Given the description of an element on the screen output the (x, y) to click on. 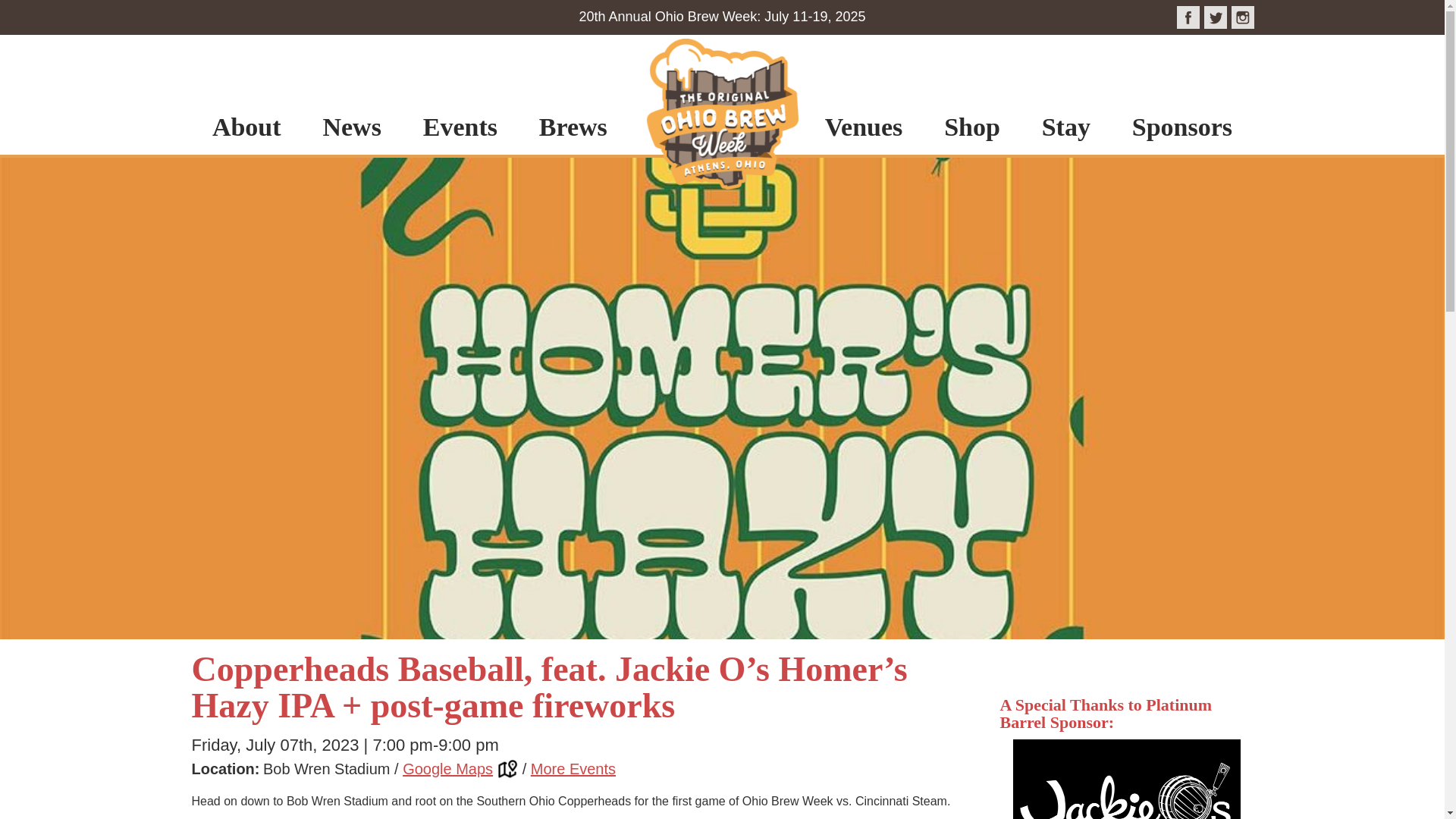
Events (460, 105)
More events (573, 768)
T (1215, 16)
F (1187, 16)
Get the address, directions, and more (460, 768)
About (246, 105)
News (351, 105)
T (1242, 16)
Home - Return to the Ohio Brew Week homepage! (721, 116)
